Given the description of an element on the screen output the (x, y) to click on. 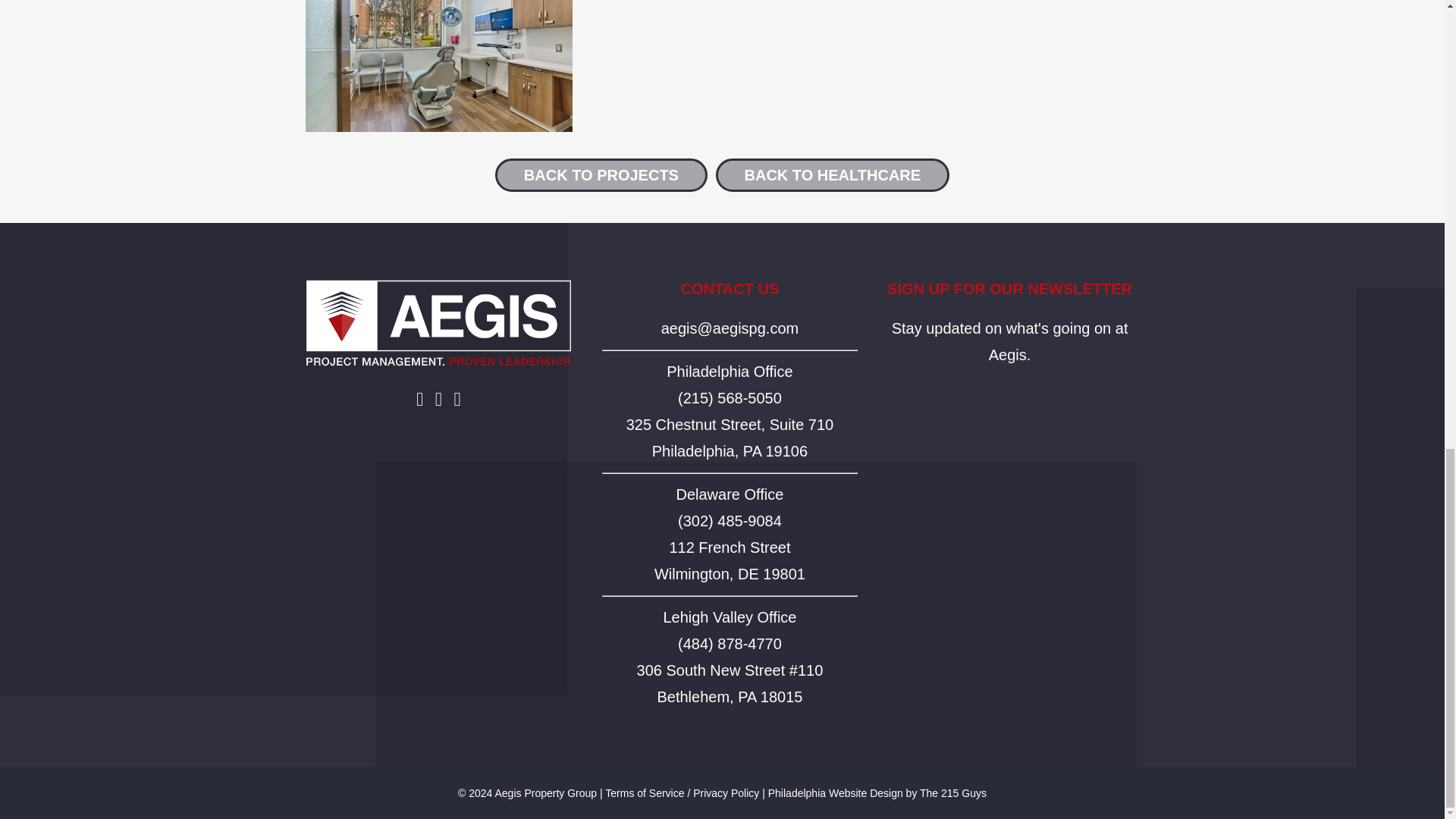
JeffersonMaxillofacialAtBrynMawrHosp (730, 437)
112 French Street (438, 66)
Philadelphia Website Design (729, 547)
Philadelphia Office (835, 793)
BACK TO PROJECTS (729, 371)
Wilmington, DE 19801 (601, 174)
Delaware Office (729, 573)
Bethlehem, PA 18015 (729, 494)
BACK TO HEALTHCARE (729, 696)
Lehigh Valley Office (833, 174)
